Given the description of an element on the screen output the (x, y) to click on. 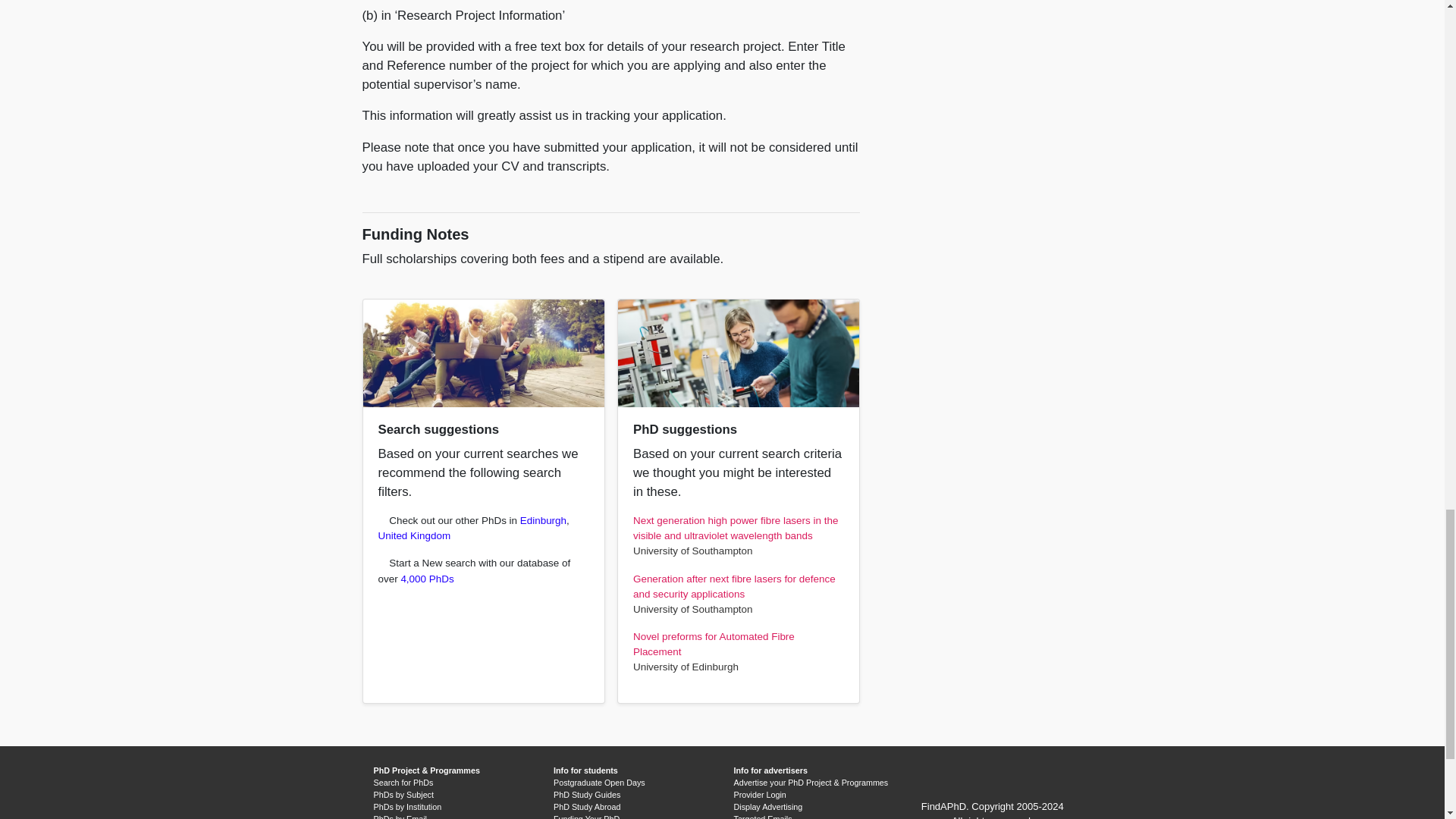
View all courses in United Kingdom (413, 535)
View all courses in Edinburgh (542, 520)
